Given the description of an element on the screen output the (x, y) to click on. 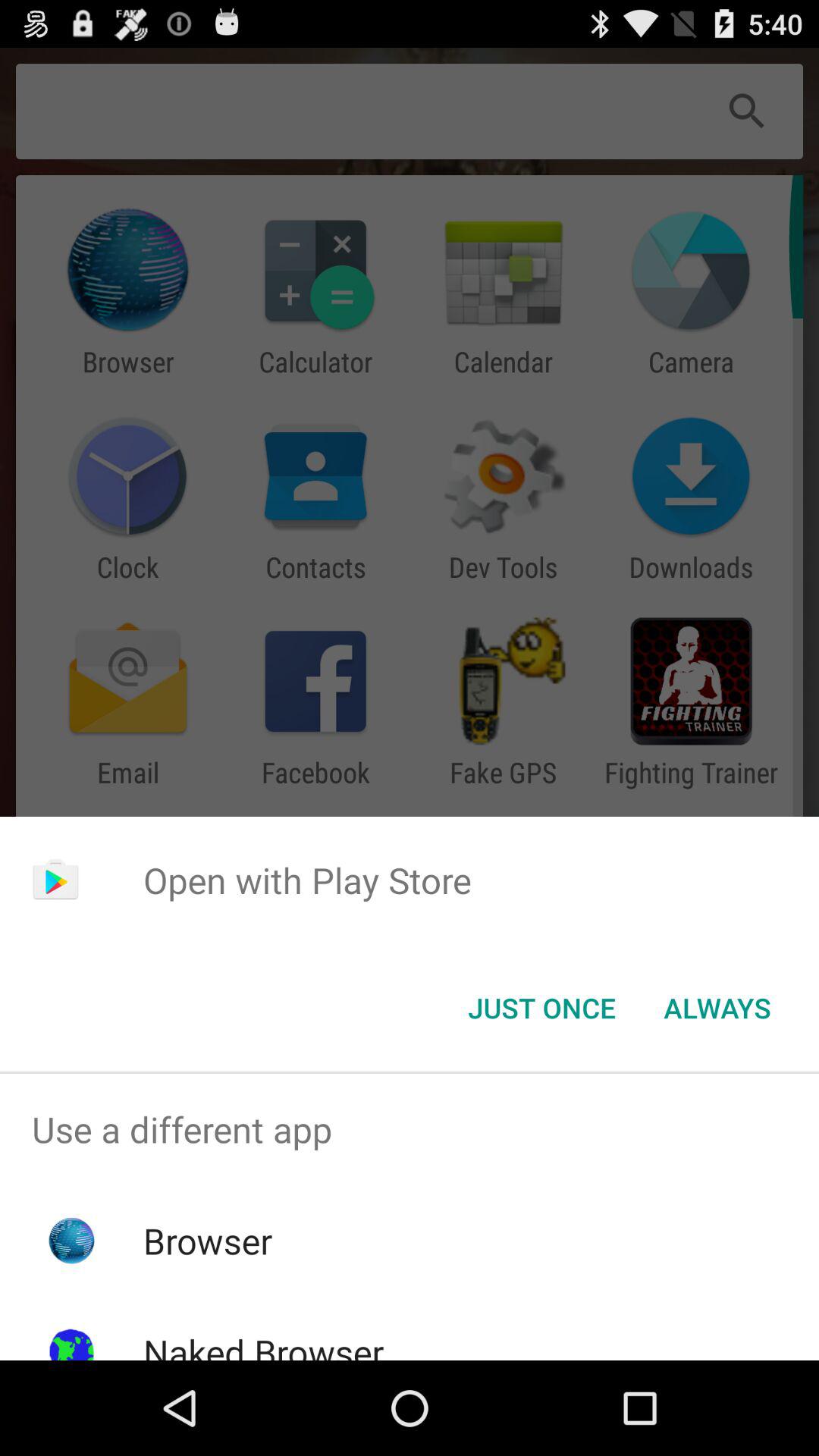
select button to the left of always button (541, 1007)
